Given the description of an element on the screen output the (x, y) to click on. 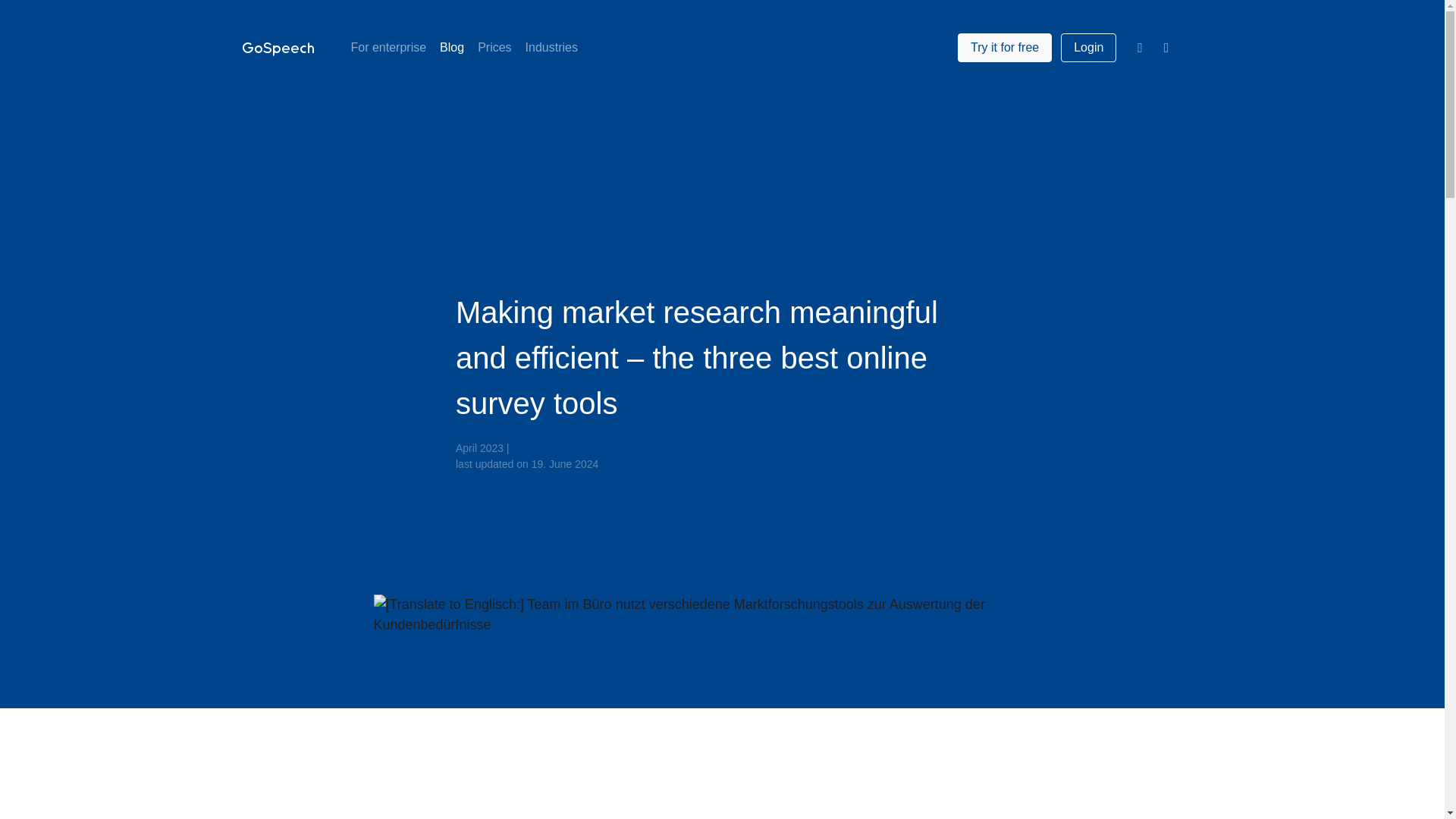
Prices (494, 47)
Try it for free (1004, 47)
For enterprise (388, 47)
Login (1088, 47)
Industries (551, 47)
